Given the description of an element on the screen output the (x, y) to click on. 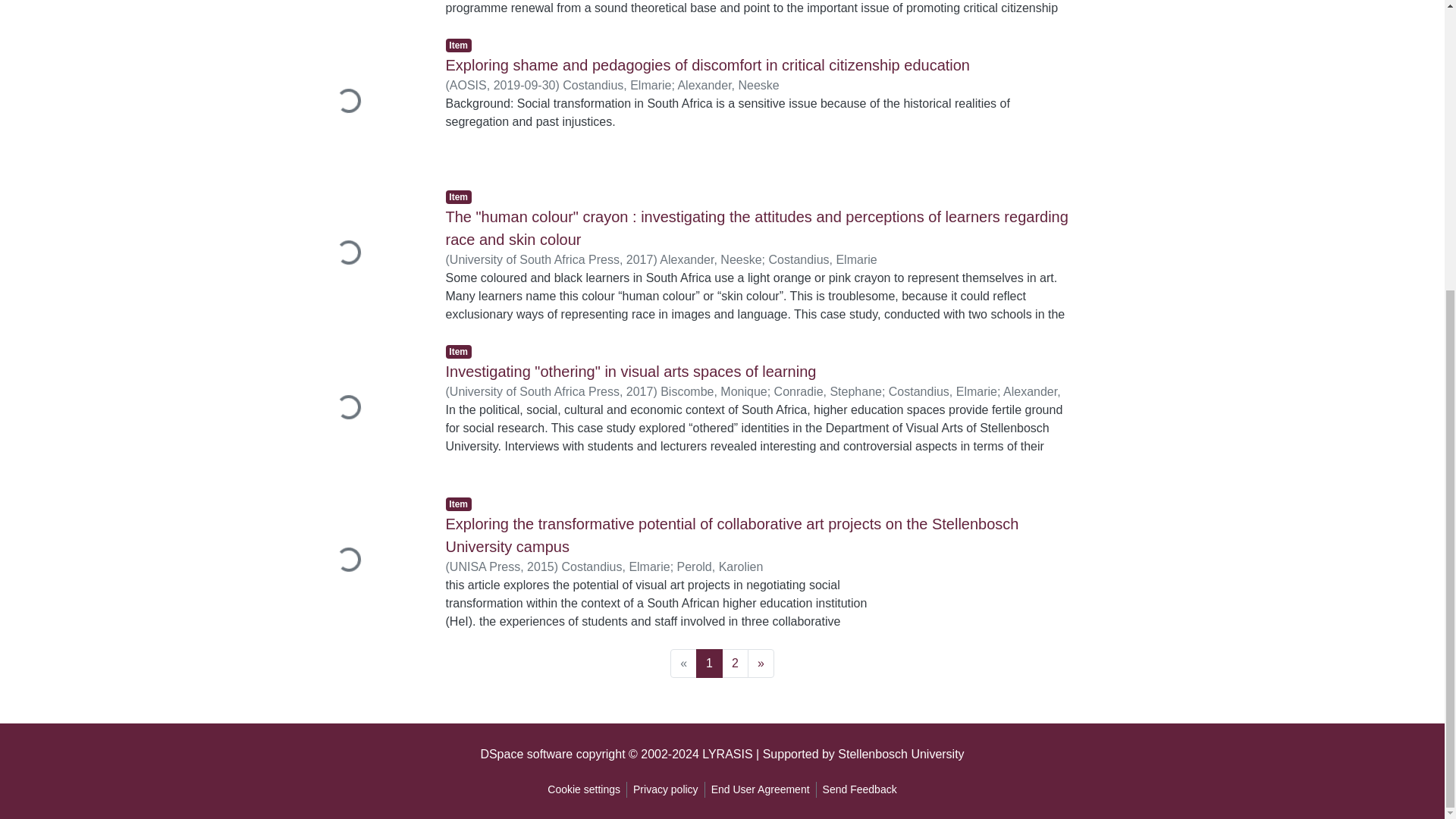
Loading... (362, 7)
Loading... (362, 254)
Loading... (362, 102)
